Given the description of an element on the screen output the (x, y) to click on. 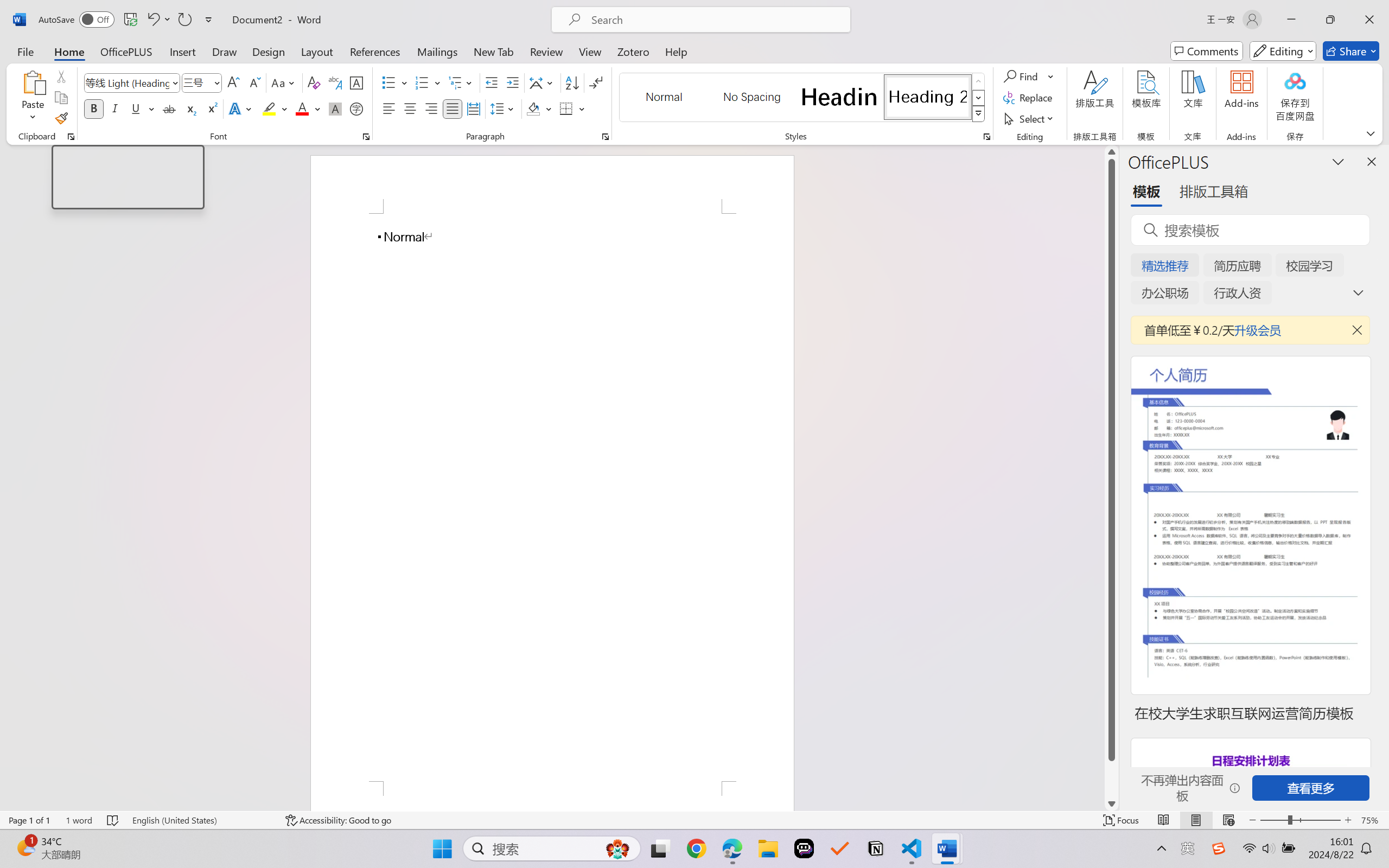
Text Highlight Color (274, 108)
Select (1030, 118)
Align Right (431, 108)
Undo Typing (152, 19)
Font (126, 82)
Class: Image (1218, 847)
Underline (142, 108)
Numbering (428, 82)
Font Size (201, 82)
Subscript (190, 108)
Heading 2 (927, 96)
